Given the description of an element on the screen output the (x, y) to click on. 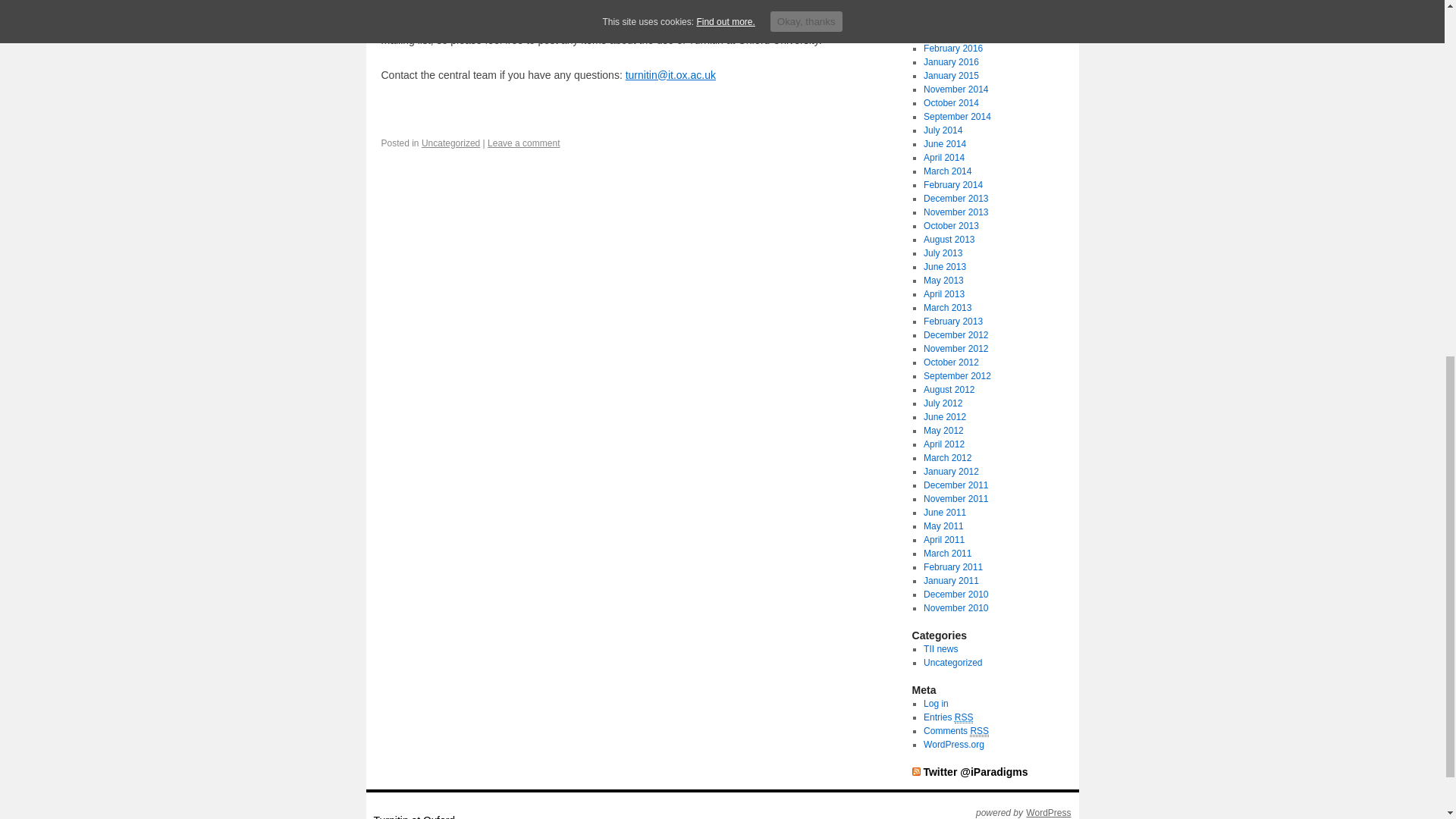
Really Simple Syndication (964, 717)
Uncategorized (451, 143)
Leave a comment (523, 143)
Really Simple Syndication (978, 731)
